Given the description of an element on the screen output the (x, y) to click on. 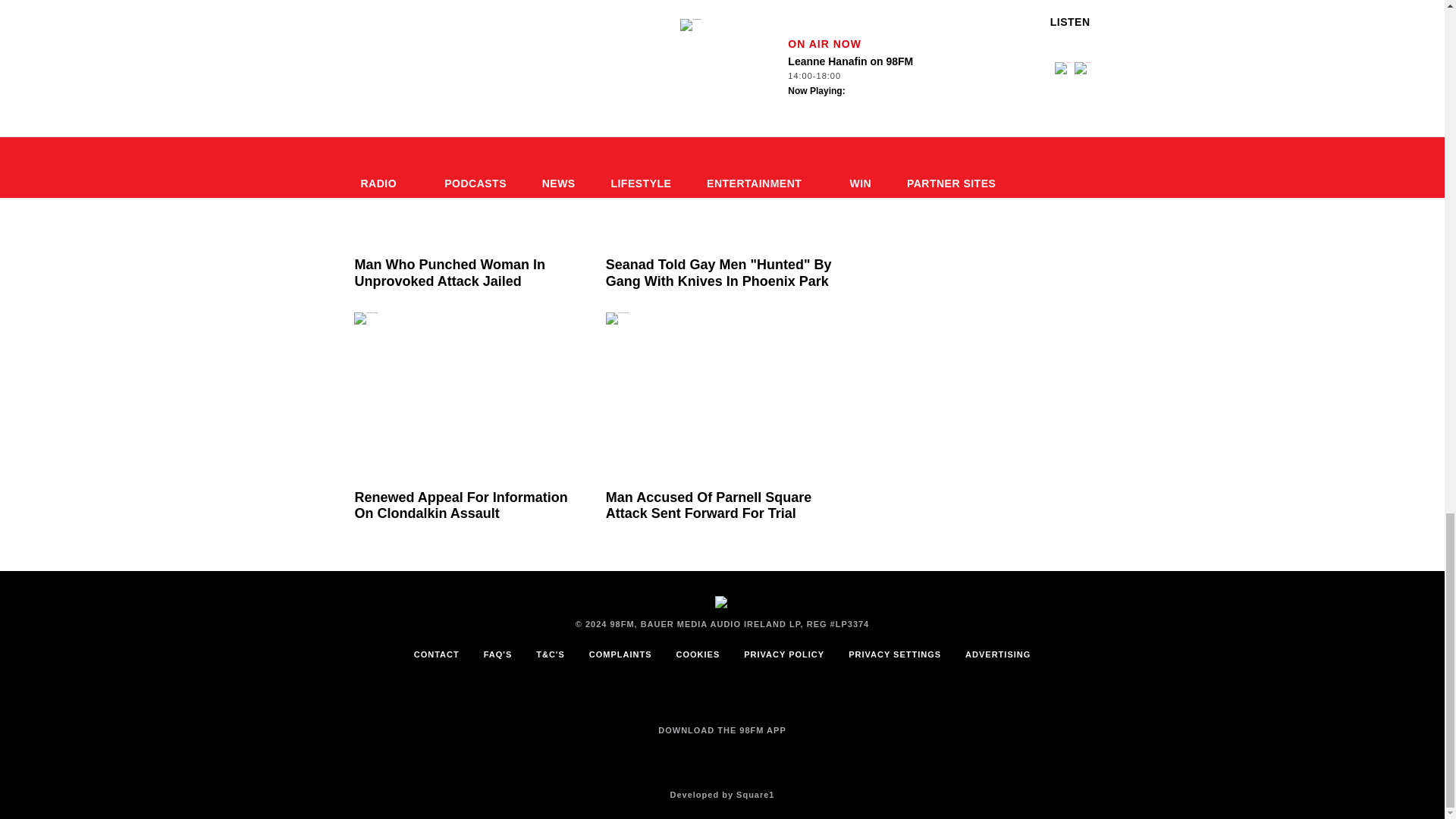
Complaints (619, 654)
Contact (436, 654)
FAQ's (497, 654)
Cookies (697, 654)
